Given the description of an element on the screen output the (x, y) to click on. 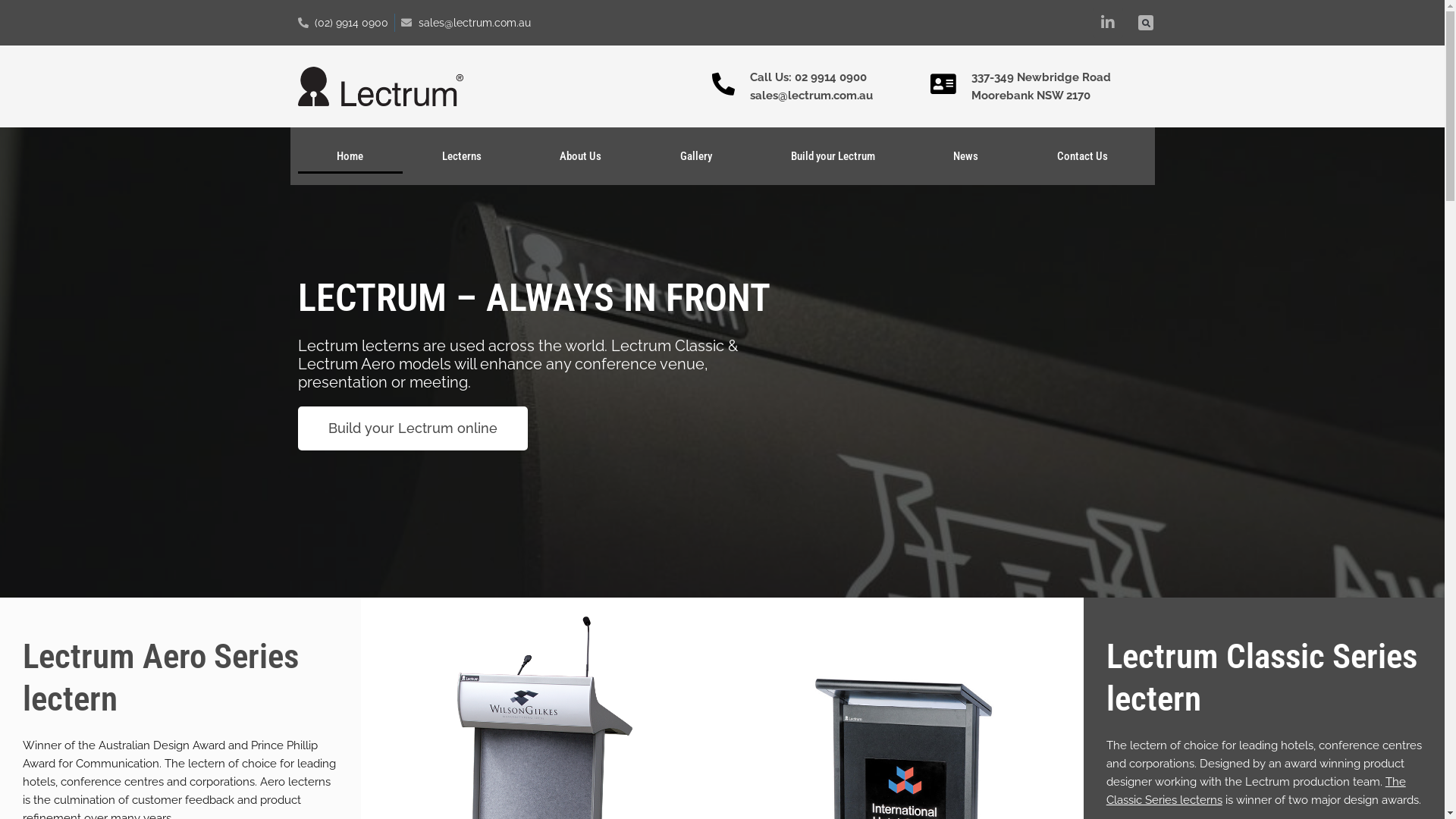
Build your Lectrum Element type: text (832, 155)
Contact Us Element type: text (1082, 155)
Build your Lectrum online Element type: text (412, 428)
Linkedin Element type: text (1107, 22)
About Us Element type: text (580, 155)
The Classic Series lecterns Element type: text (1255, 790)
sales@lectrum.com.au Element type: text (824, 95)
Home Element type: text (349, 155)
Lecterns Element type: text (461, 155)
sales@lectrum.com.au Element type: text (465, 22)
News Element type: text (965, 155)
Gallery Element type: text (695, 155)
